Given the description of an element on the screen output the (x, y) to click on. 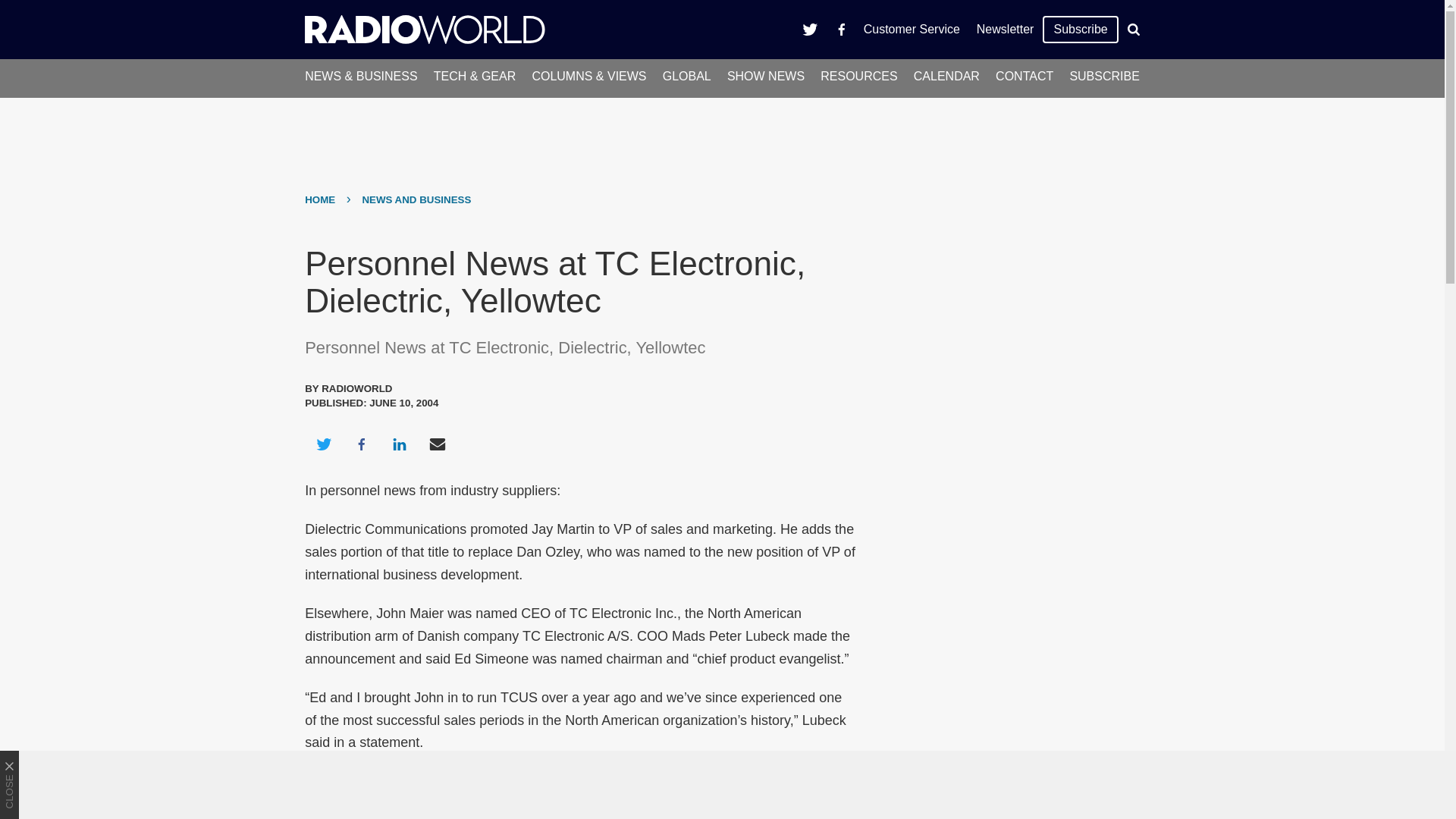
Share on LinkedIn (399, 444)
Share via Email (438, 444)
Share on Facebook (361, 444)
Customer Service (912, 29)
Share on Twitter (323, 444)
